Given the description of an element on the screen output the (x, y) to click on. 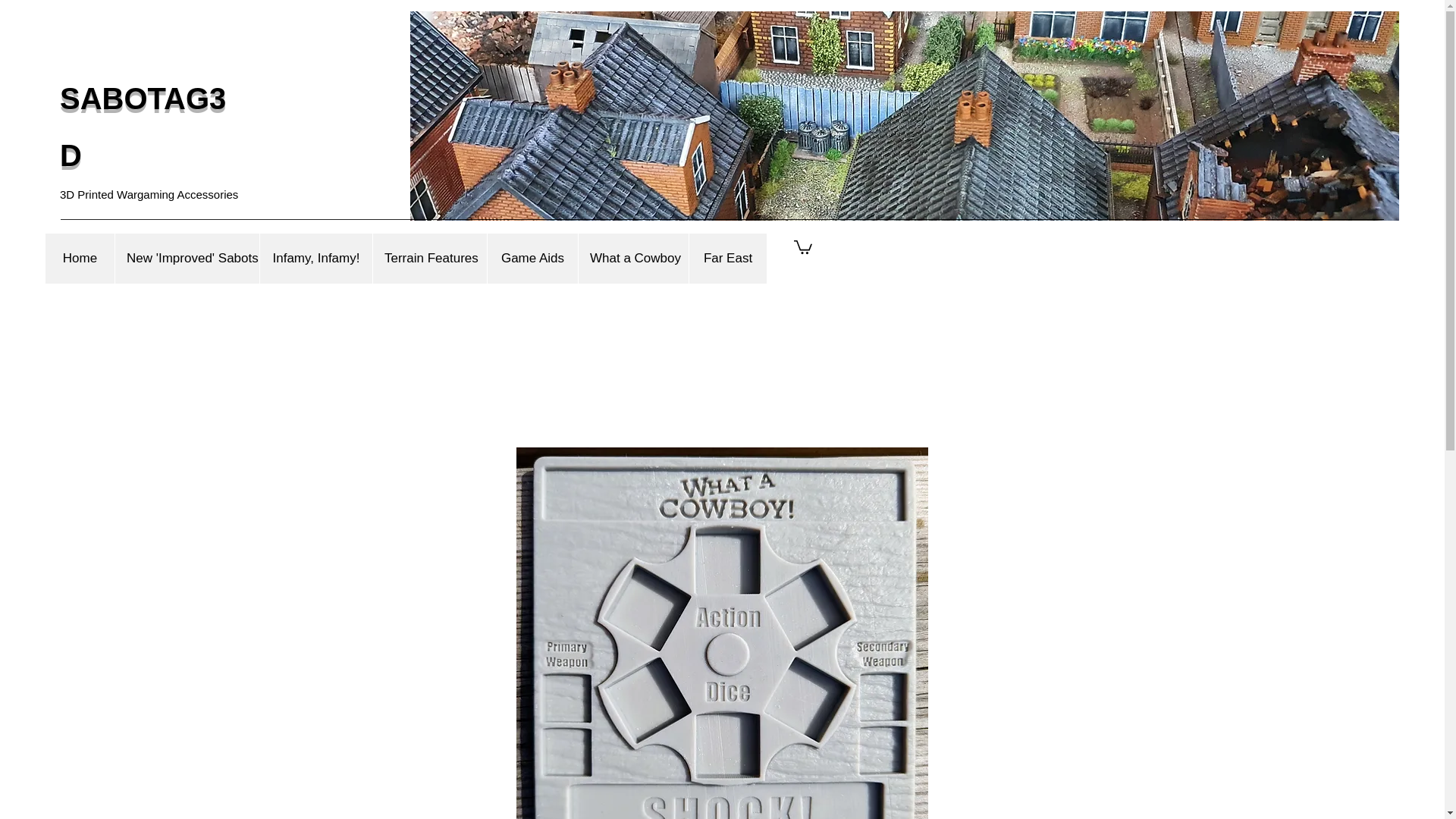
Far East (727, 258)
Home (80, 258)
Infamy, Infamy! (315, 258)
Terrain Features (429, 258)
Game Aids (532, 258)
What a Cowboy (633, 258)
